Given the description of an element on the screen output the (x, y) to click on. 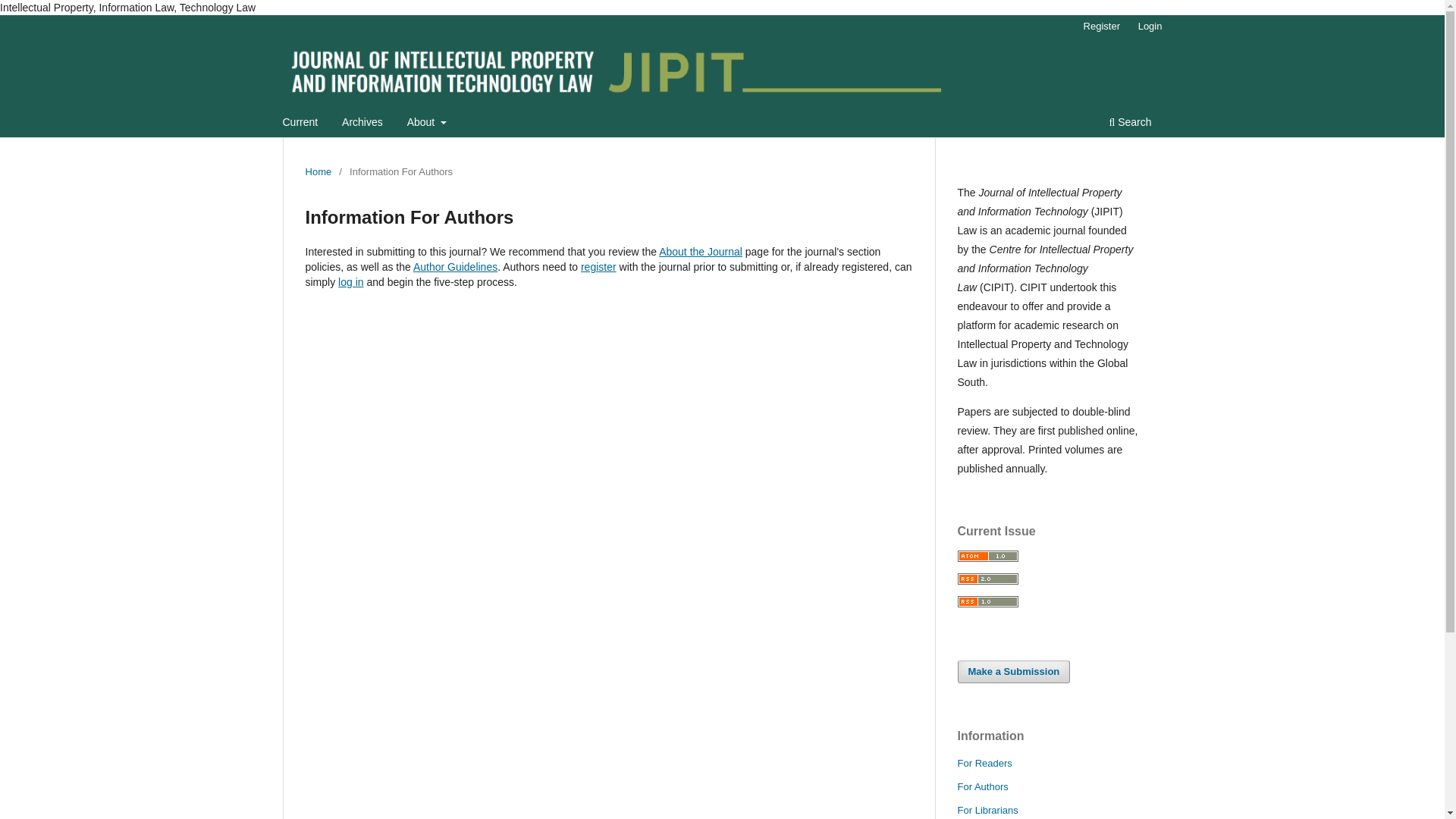
register (597, 266)
About (426, 123)
Make a Submission (1013, 671)
Login (1150, 26)
Current (300, 123)
For Authors (981, 786)
For Readers (983, 763)
log in (349, 282)
Author Guidelines (455, 266)
Home (317, 171)
Register (1100, 26)
About the Journal (700, 251)
Search (1129, 123)
For Librarians (986, 809)
Archives (362, 123)
